Given the description of an element on the screen output the (x, y) to click on. 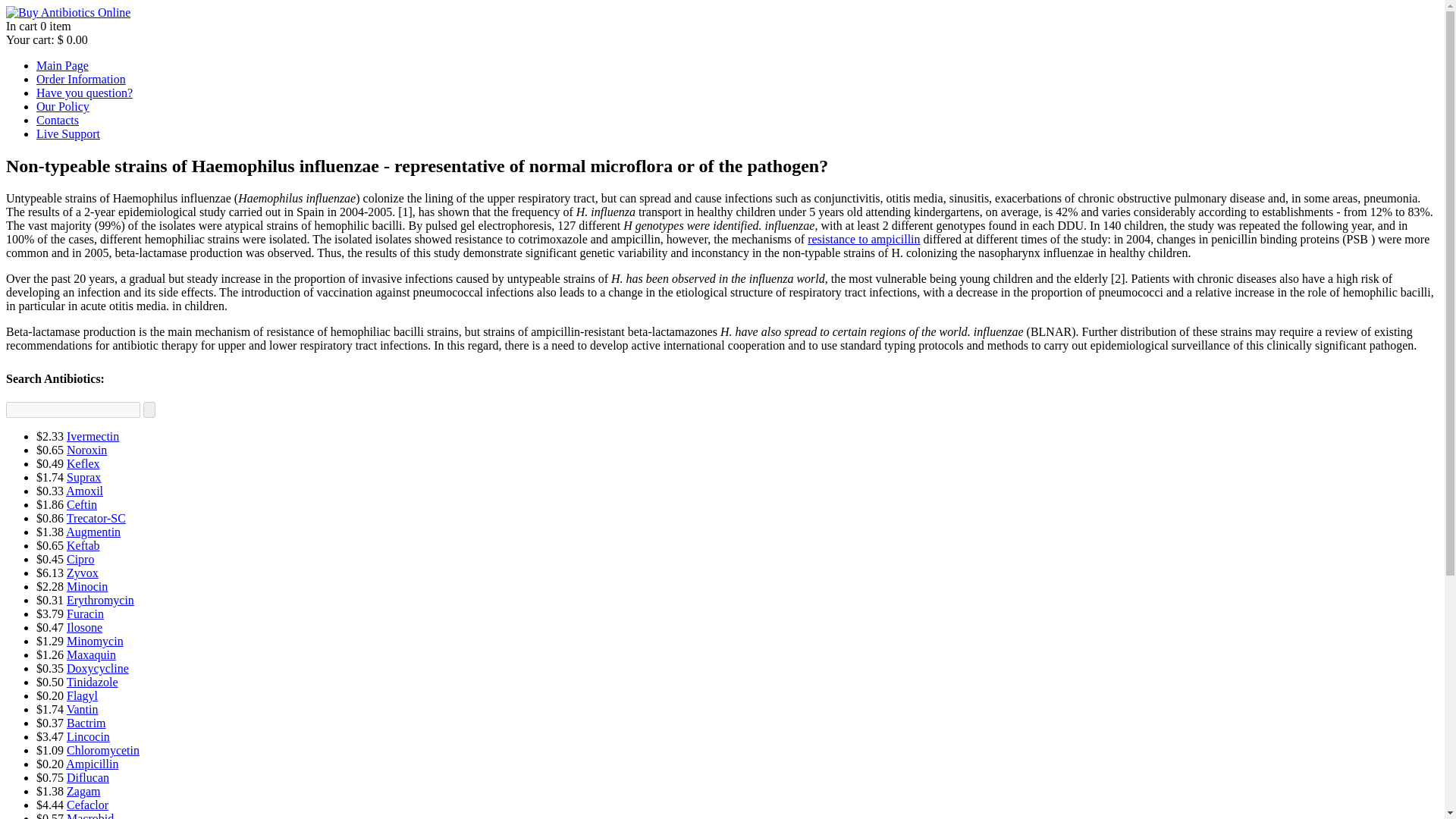
Augmentin (92, 531)
Ivermectin (92, 436)
Minomycin (94, 640)
Live Support (68, 133)
Flagyl (81, 695)
Zagam (83, 790)
Doxycycline (97, 667)
Suprax (83, 477)
Ceftin (81, 504)
Macrobid (89, 815)
